Given the description of an element on the screen output the (x, y) to click on. 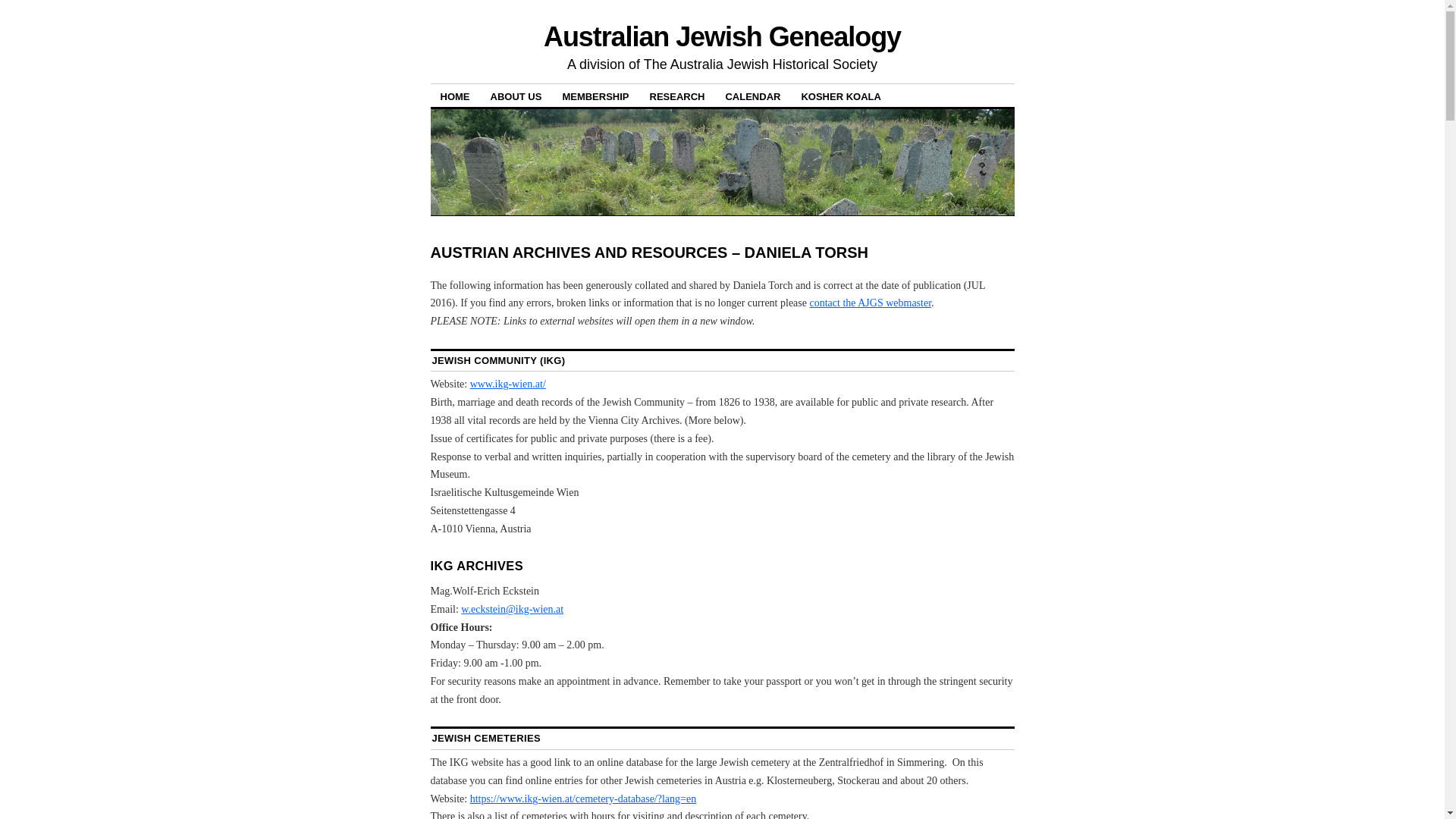
RESEARCH Element type: text (677, 95)
CALENDAR Element type: text (752, 95)
www.ikg-wien.at/ Element type: text (508, 383)
HOME Element type: text (455, 95)
contact the AJGS webmaster Element type: text (870, 302)
MEMBERSHIP Element type: text (595, 95)
ABOUT US Element type: text (516, 95)
KOSHER KOALA Element type: text (840, 95)
w.eckstein@ikg-wien.at Element type: text (512, 609)
Australian Jewish Genealogy Element type: text (721, 36)
https://www.ikg-wien.at/cemetery-database/?lang=en Element type: text (583, 798)
